Given the description of an element on the screen output the (x, y) to click on. 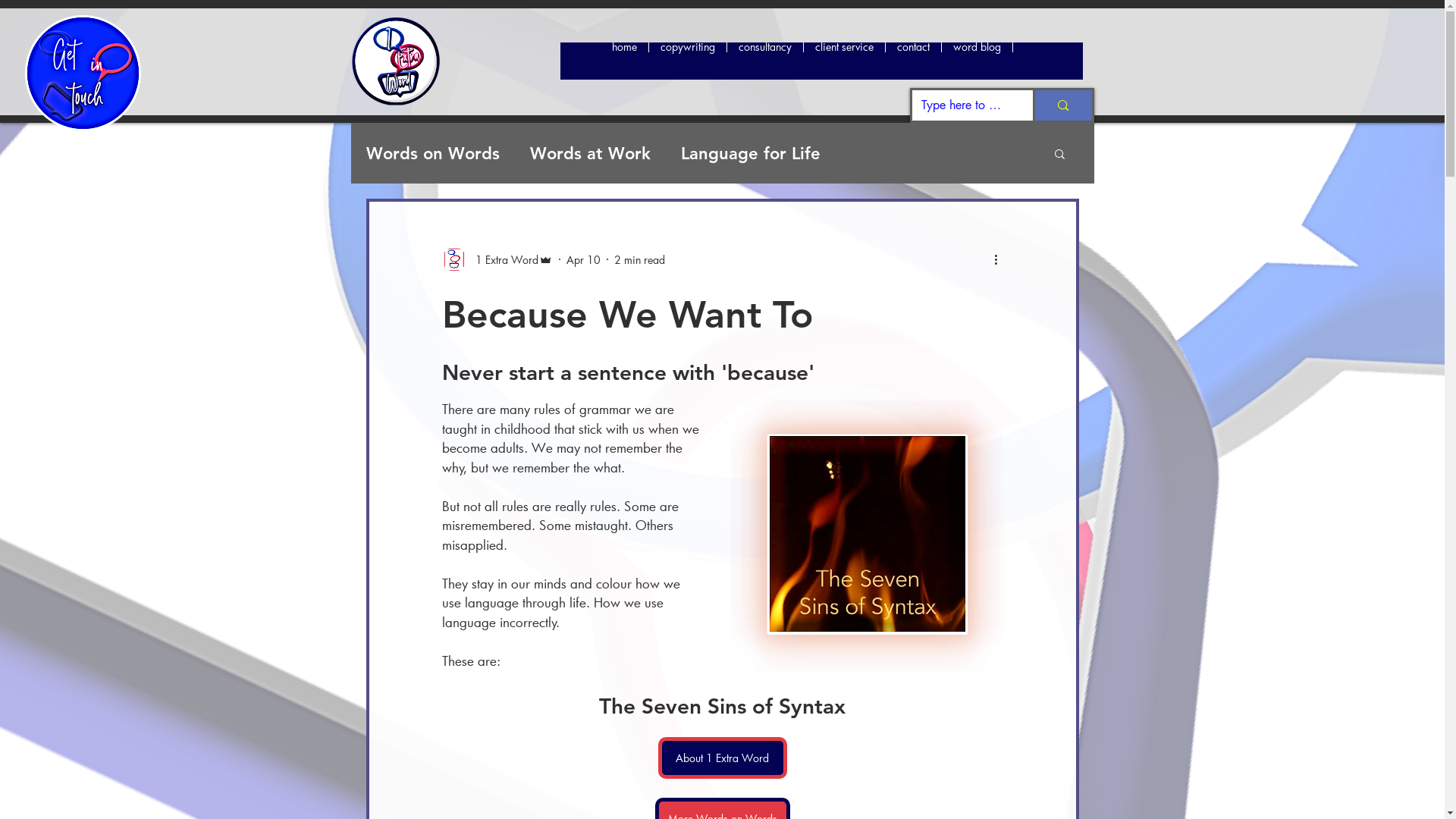
contact Element type: text (912, 60)
Words on Words Element type: text (431, 152)
Contact us Element type: hover (82, 73)
word blog Element type: text (975, 60)
consultancy Element type: text (764, 60)
Words at Work Element type: text (589, 152)
home Element type: text (624, 60)
Language for Life Element type: text (750, 152)
1 Extra Word Element type: text (496, 259)
copywriting Element type: text (686, 60)
logo Element type: hover (398, 60)
client service Element type: text (843, 60)
About 1 Extra Word Element type: text (722, 757)
